Given the description of an element on the screen output the (x, y) to click on. 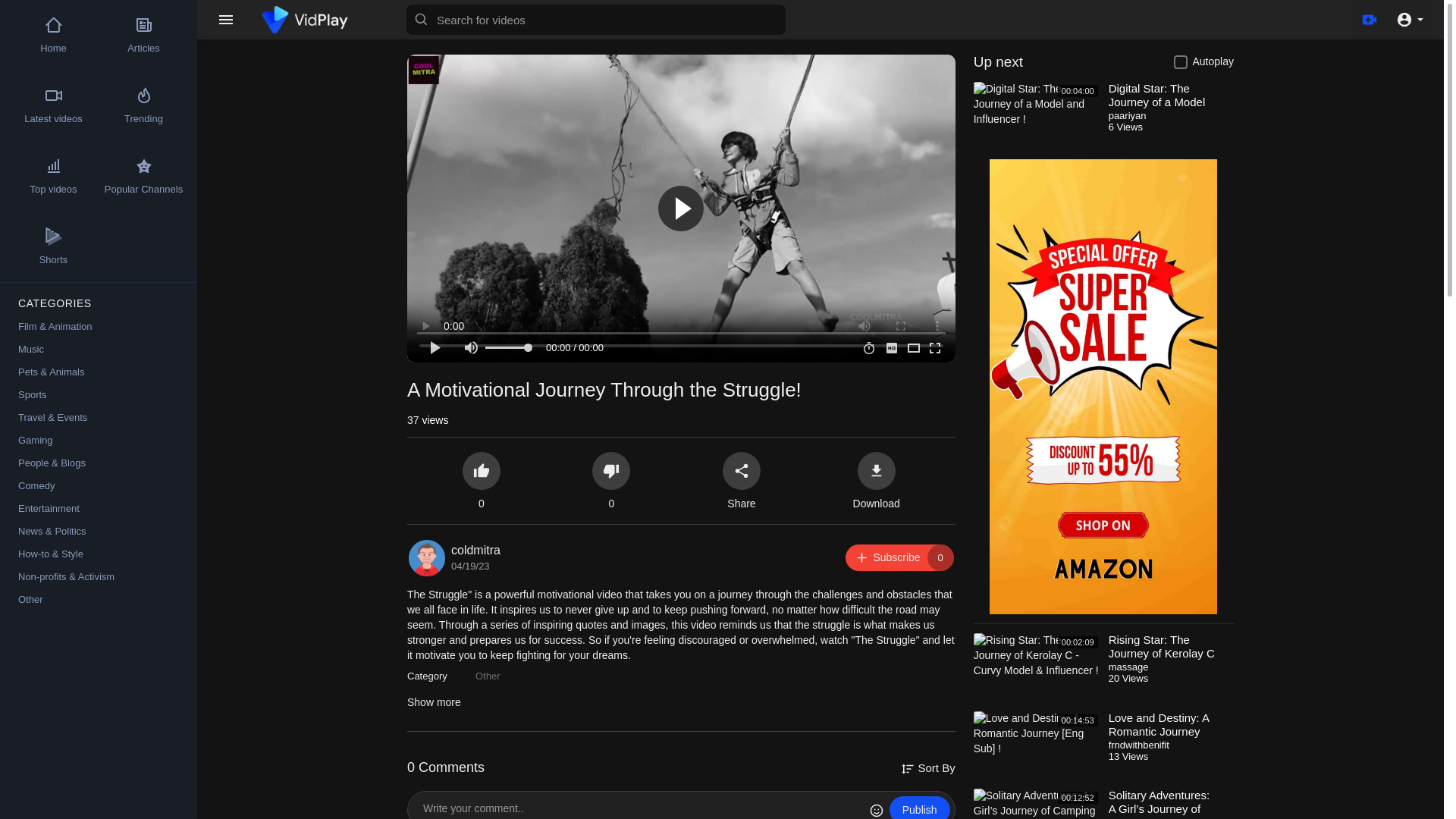
00:12:52 (1037, 803)
00:02:09 (899, 557)
Other (1037, 669)
coldmitra (488, 675)
Publish (475, 549)
00:14:53 (919, 807)
00:04:00 (1037, 746)
Download (1037, 117)
